Given the description of an element on the screen output the (x, y) to click on. 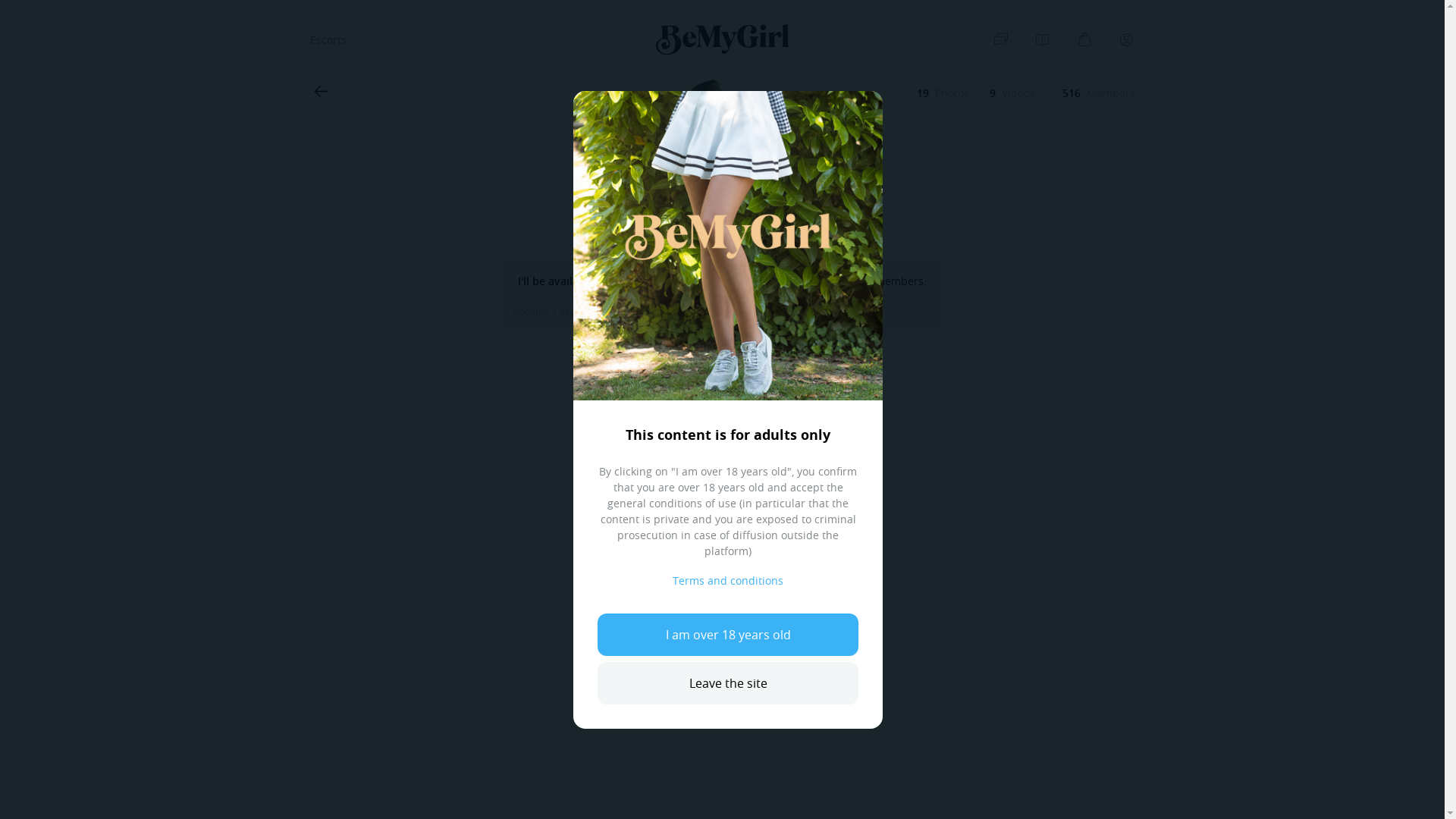
I am over 18 years old Element type: text (727, 633)
Follow Element type: text (719, 360)
Geneva Element type: text (752, 236)
Leave the site Element type: text (727, 682)
Terms and conditions Element type: text (727, 580)
BeMyGirl Element type: hover (721, 39)
Private apart. Element type: text (721, 135)
Escorts Element type: text (327, 38)
